Given the description of an element on the screen output the (x, y) to click on. 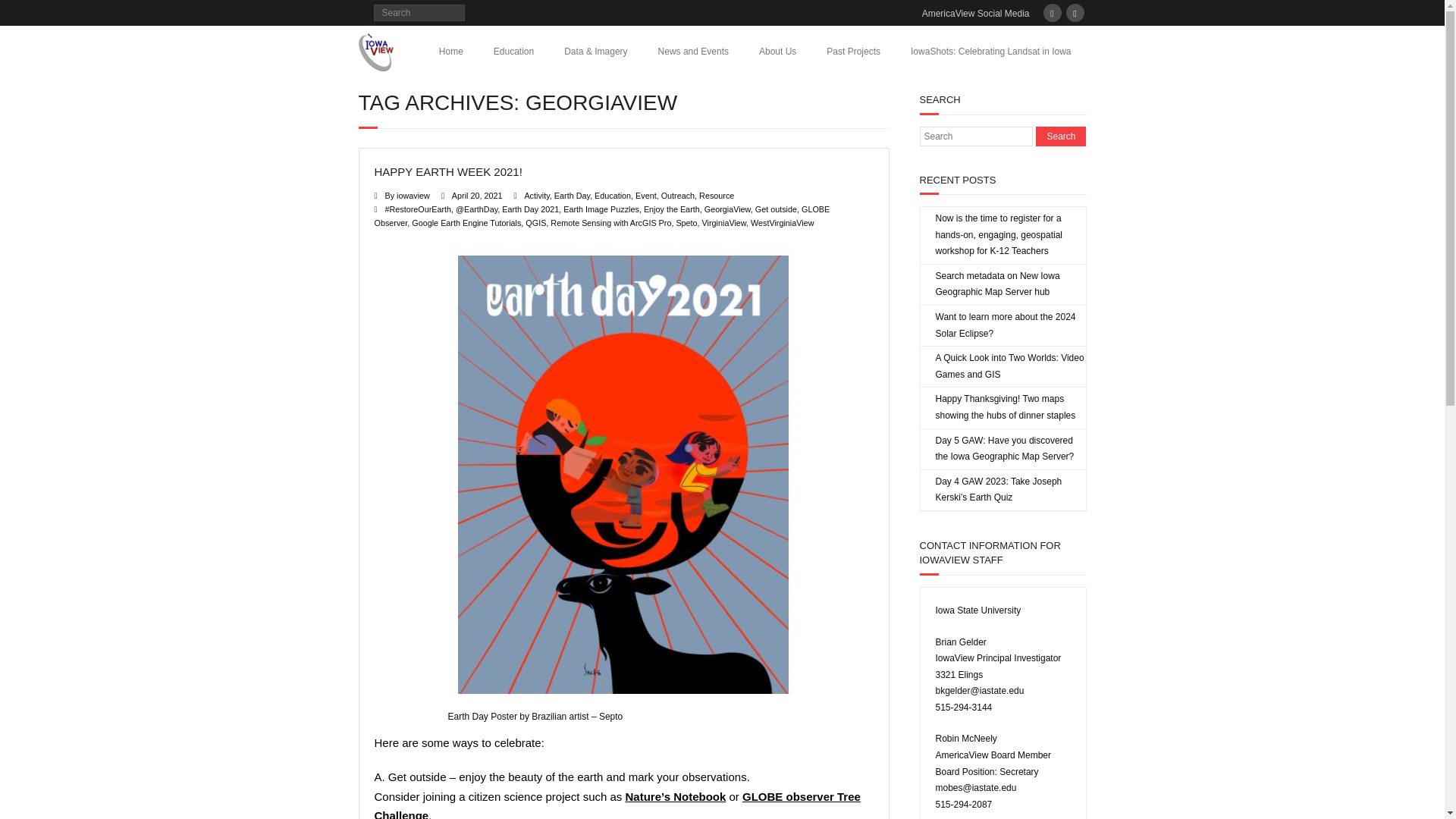
Education (513, 50)
News and Events (693, 50)
About Us (777, 50)
Happy Earth Week 2021! (476, 194)
Search (25, 9)
IowaShots: Celebrating Landsat in Iowa (990, 50)
Search (1060, 135)
Search (1060, 135)
Permalink to Happy Earth Week 2021! (448, 171)
View all posts by iowaview (412, 194)
Past Projects (852, 50)
Home (451, 50)
